Given the description of an element on the screen output the (x, y) to click on. 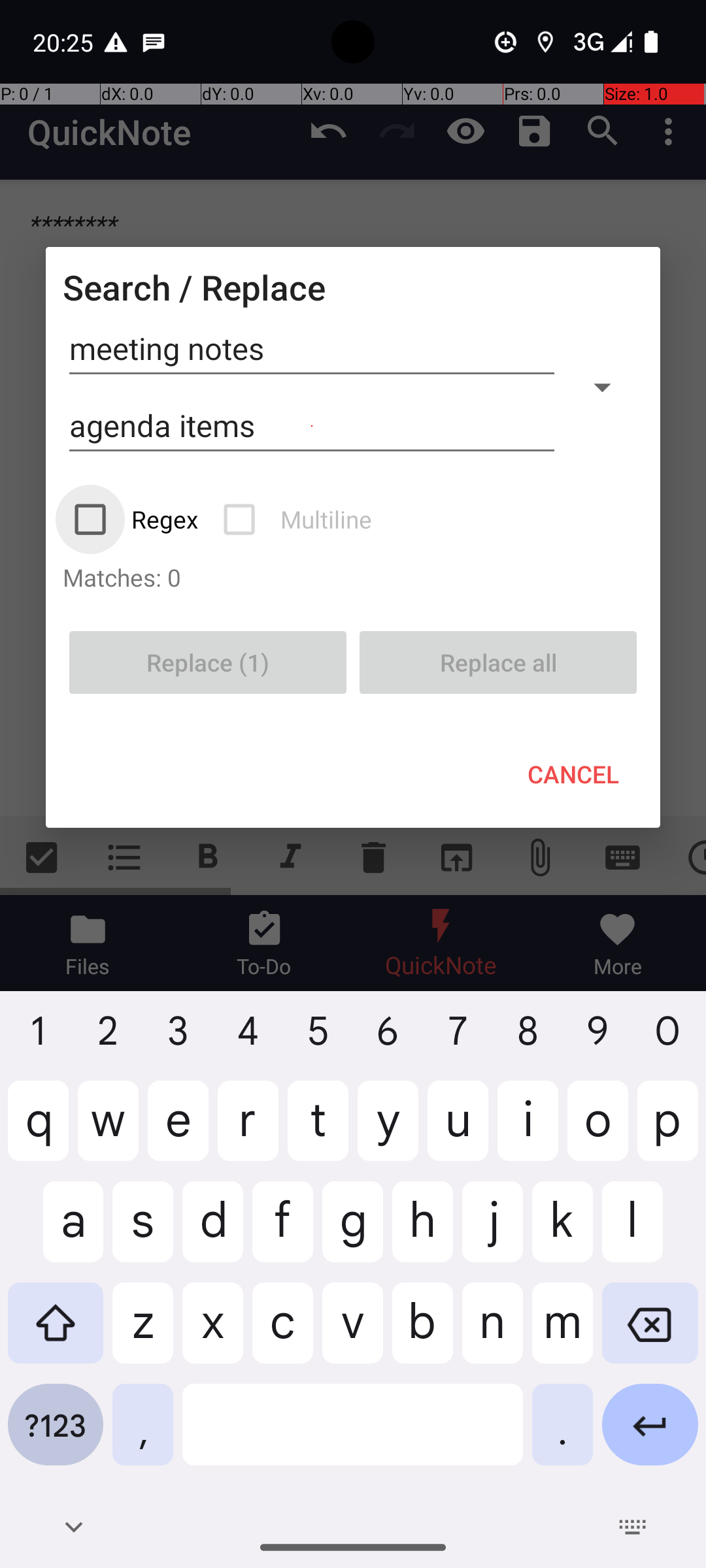
Search / Replace Element type: android.widget.TextView (193, 286)
meeting notes Element type: android.widget.EditText (311, 348)
agenda items Element type: android.widget.EditText (311, 425)
Choose format Element type: android.widget.TextView (601, 386)
Regex Element type: android.widget.CheckBox (136, 518)
Multiline Element type: android.widget.CheckBox (298, 518)
Matches: 0 Element type: android.widget.TextView (352, 576)
Replace (1) Element type: android.widget.Button (207, 662)
Replace all Element type: android.widget.Button (498, 662)
20:25 Element type: android.widget.TextView (64, 41)
